Given the description of an element on the screen output the (x, y) to click on. 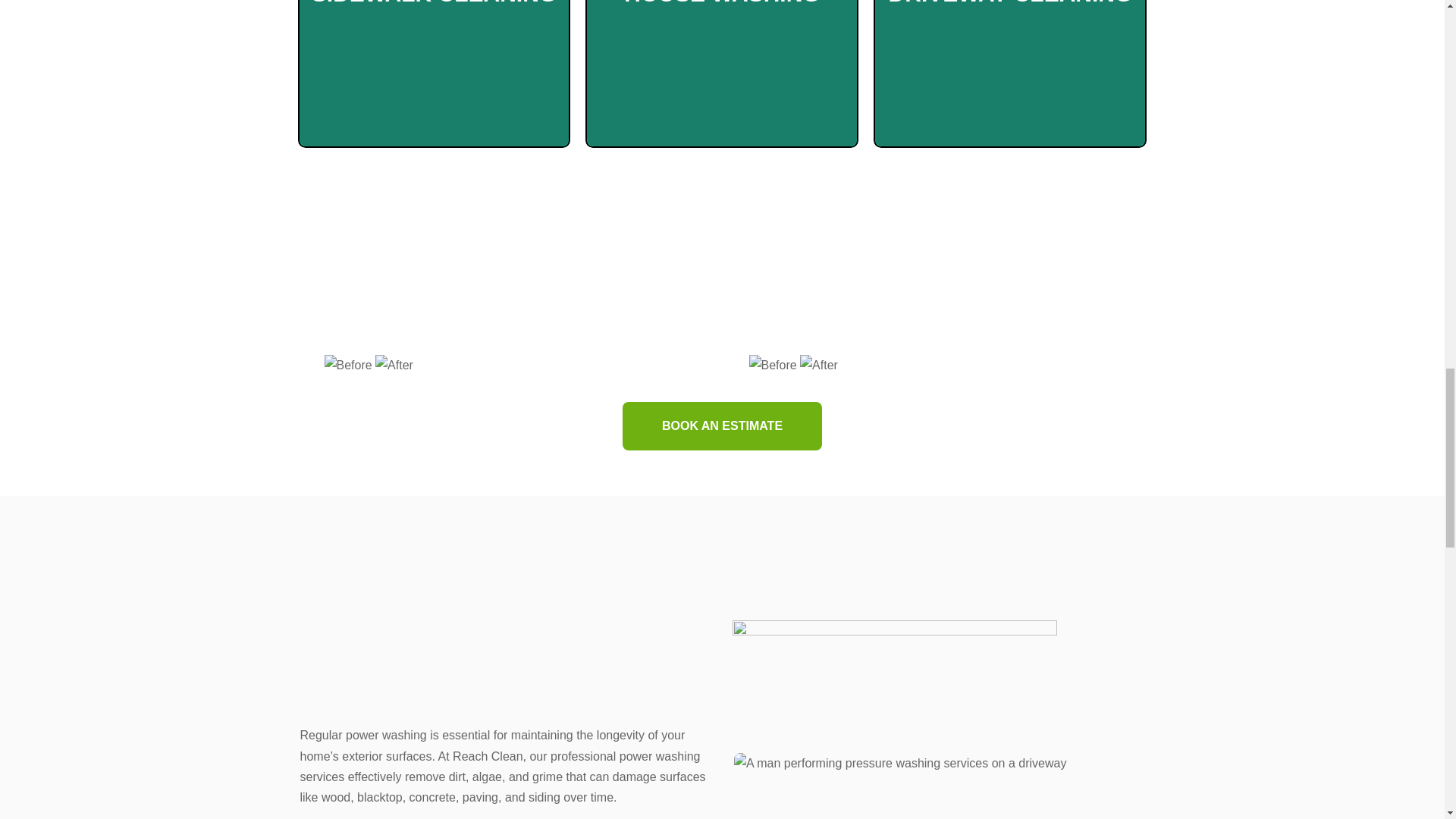
BOOK AN ESTIMATE (722, 426)
